Given the description of an element on the screen output the (x, y) to click on. 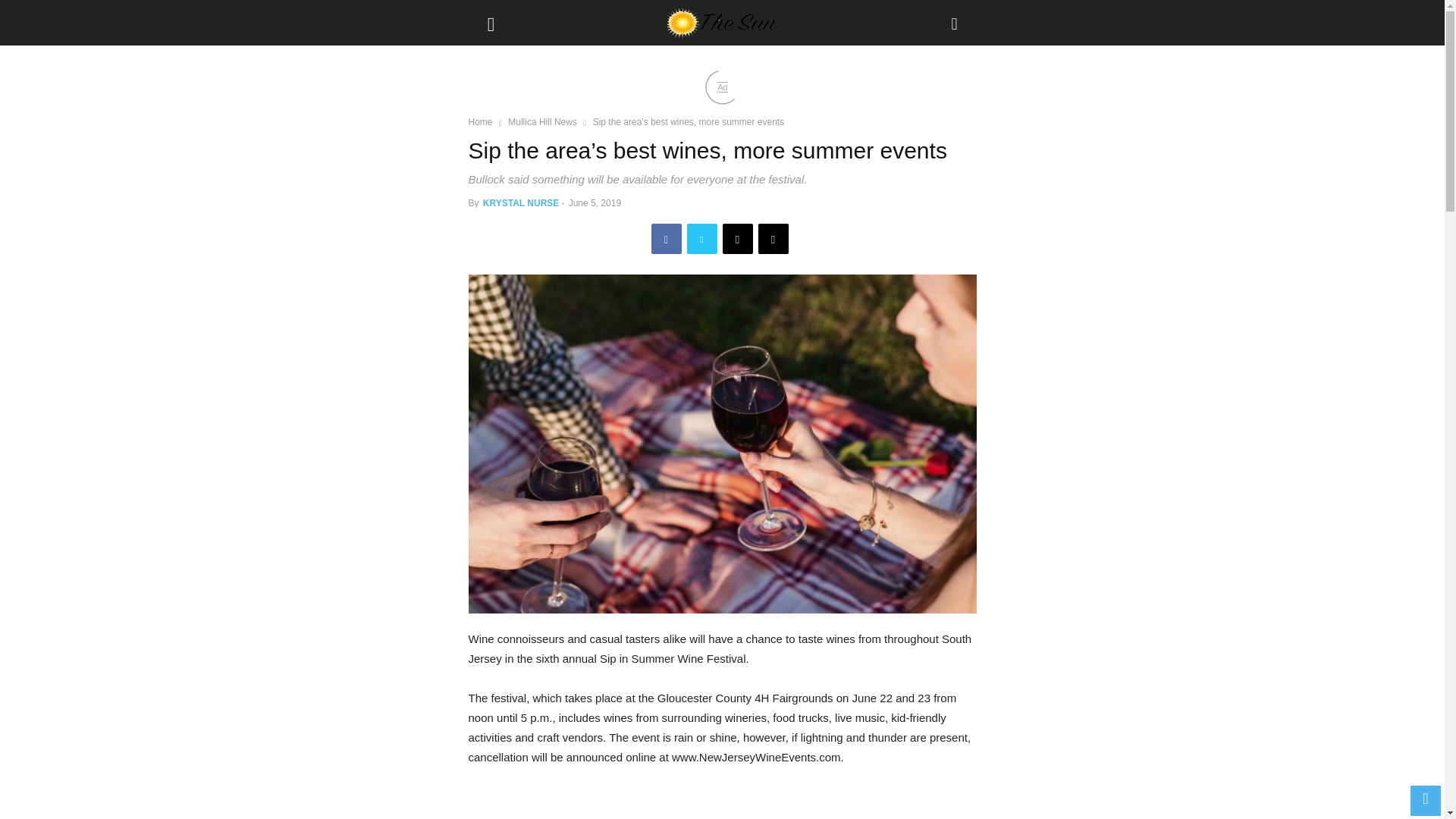
Email (737, 238)
Print (773, 238)
Twitter (702, 238)
Facebook (665, 238)
KRYSTAL NURSE (521, 203)
View all posts in Mullica Hill News (542, 122)
Mullica Hill News (542, 122)
Home (480, 122)
